Given the description of an element on the screen output the (x, y) to click on. 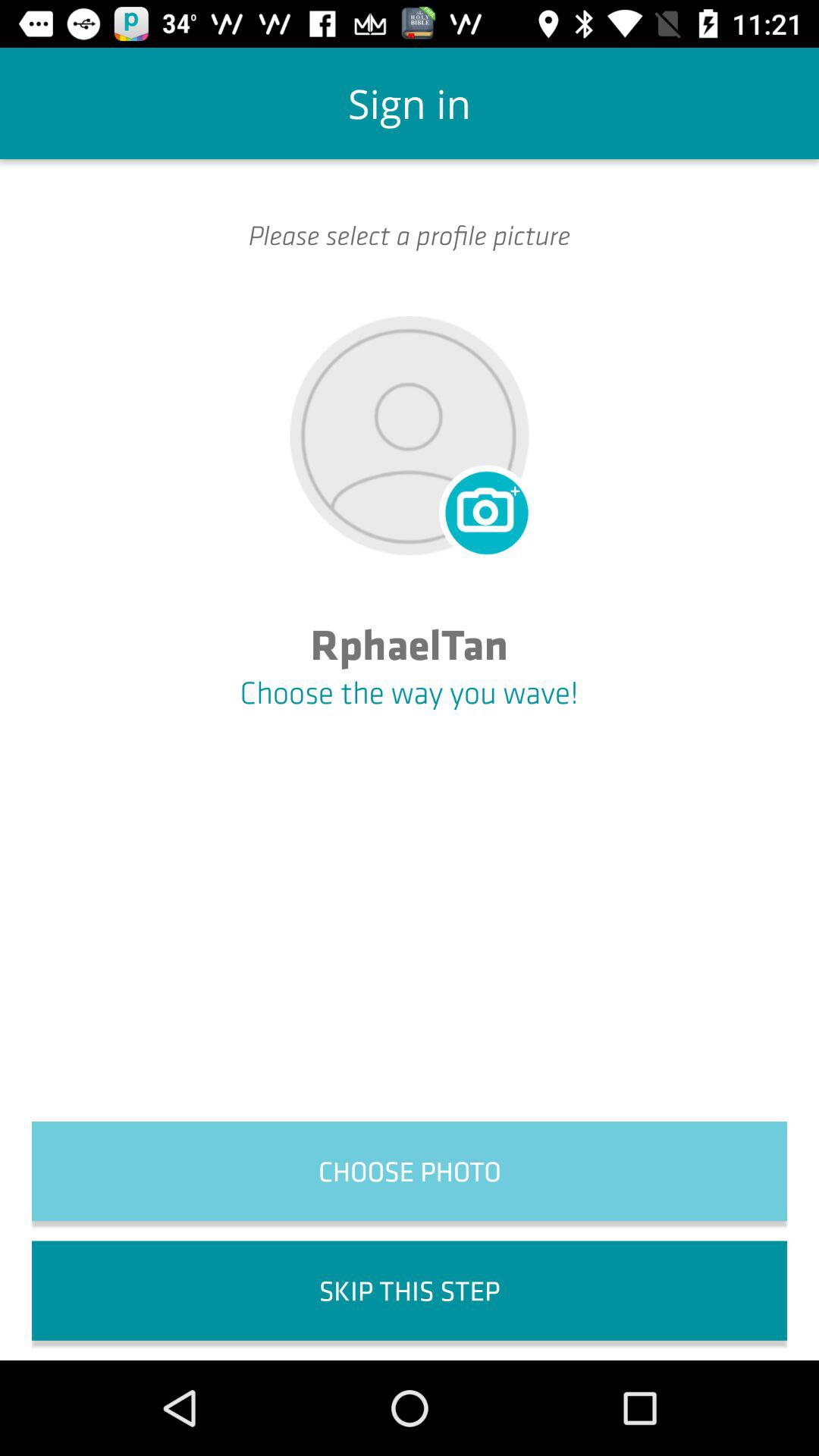
tap the icon above the rphaeltan (483, 510)
